Given the description of an element on the screen output the (x, y) to click on. 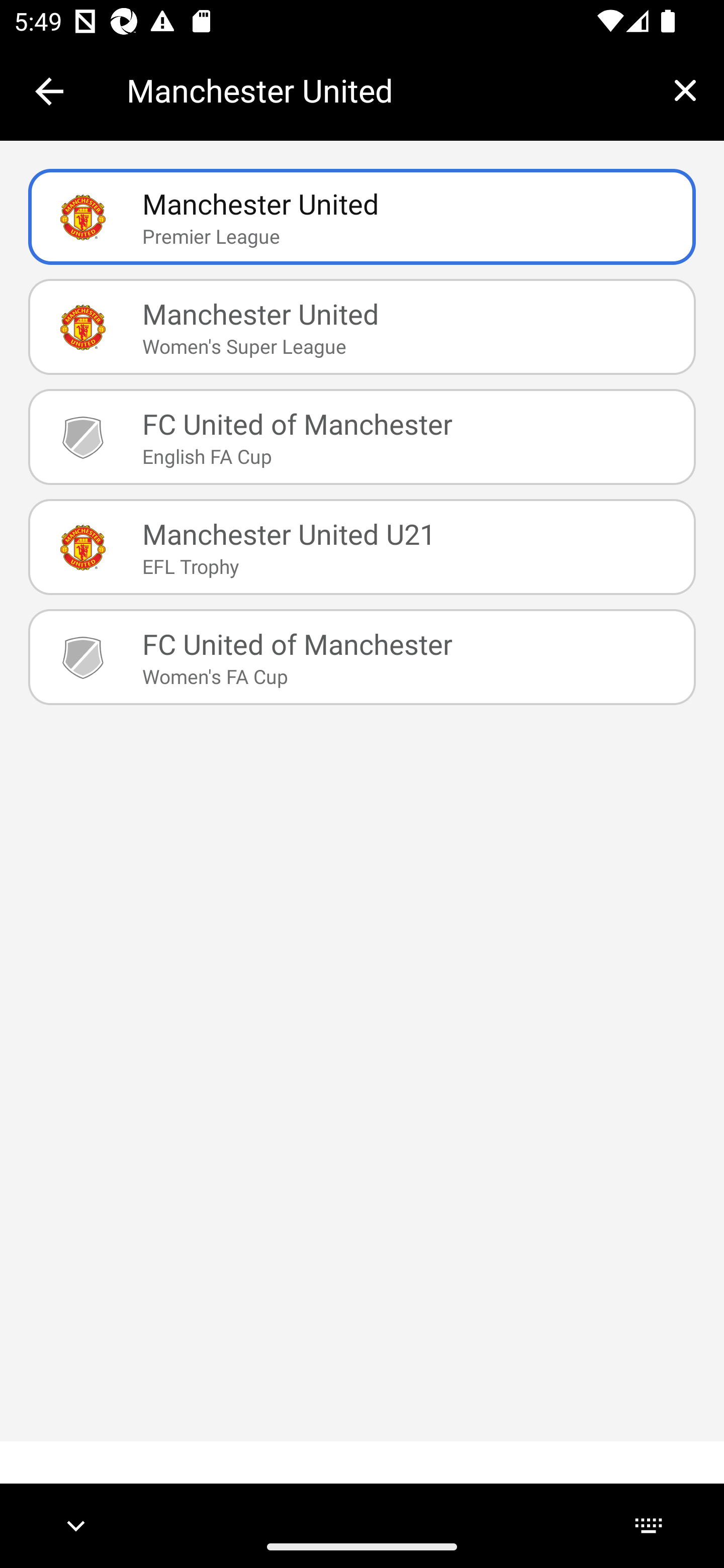
Collapse (49, 91)
Clear query (685, 89)
Manchester United (386, 90)
Manchester United Women's Super League (361, 326)
FC United of Manchester English FA Cup (361, 436)
Manchester United U21 EFL Trophy (361, 546)
FC United of Manchester Women's FA Cup (361, 656)
